Given the description of an element on the screen output the (x, y) to click on. 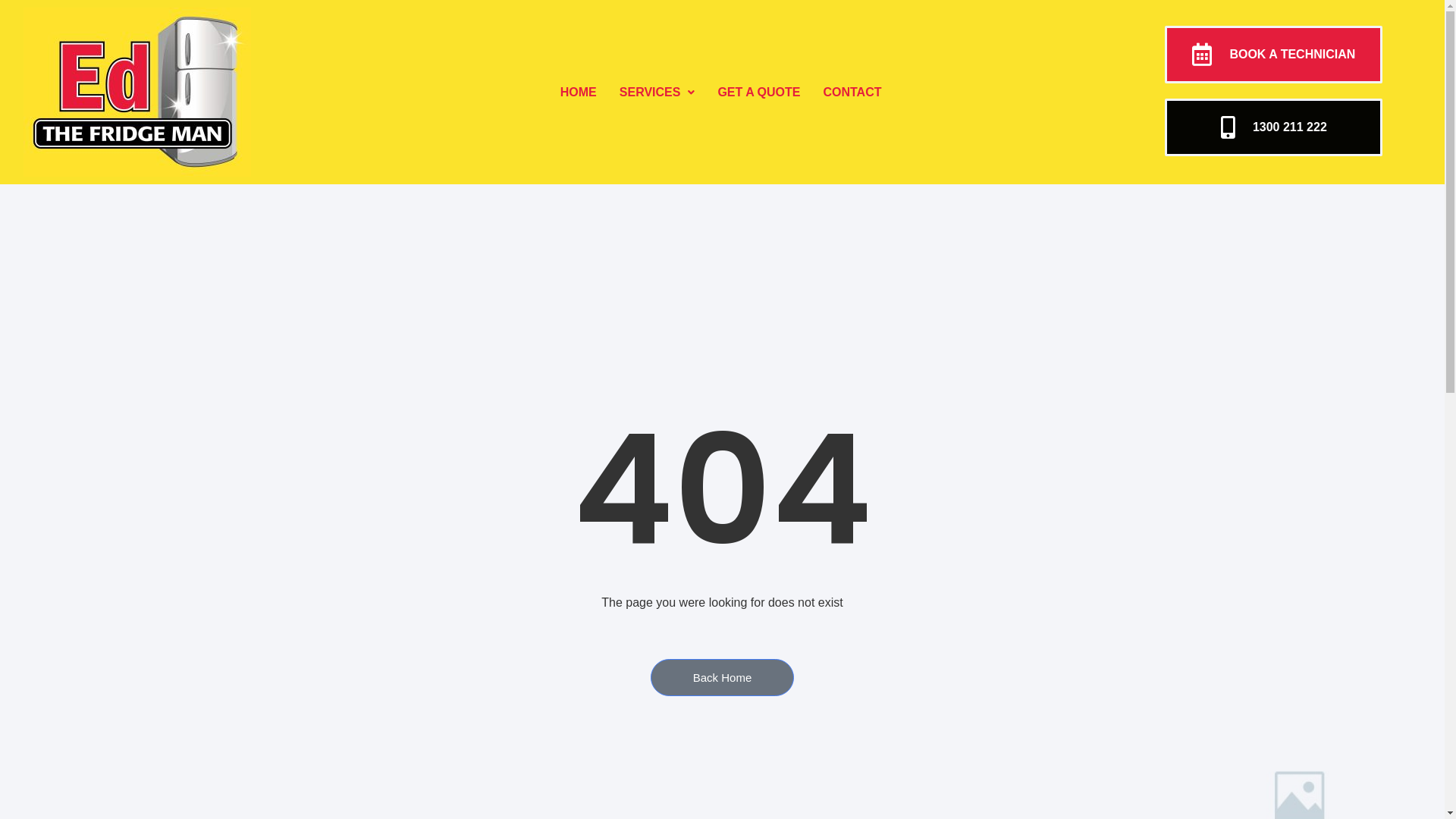
CONTACT Element type: text (851, 91)
BOOK A TECHNICIAN Element type: text (1273, 54)
SERVICES Element type: text (657, 91)
HOME Element type: text (578, 91)
1300 211 222 Element type: text (1273, 127)
Back Home Element type: text (722, 677)
GET A QUOTE Element type: text (758, 91)
